Given the description of an element on the screen output the (x, y) to click on. 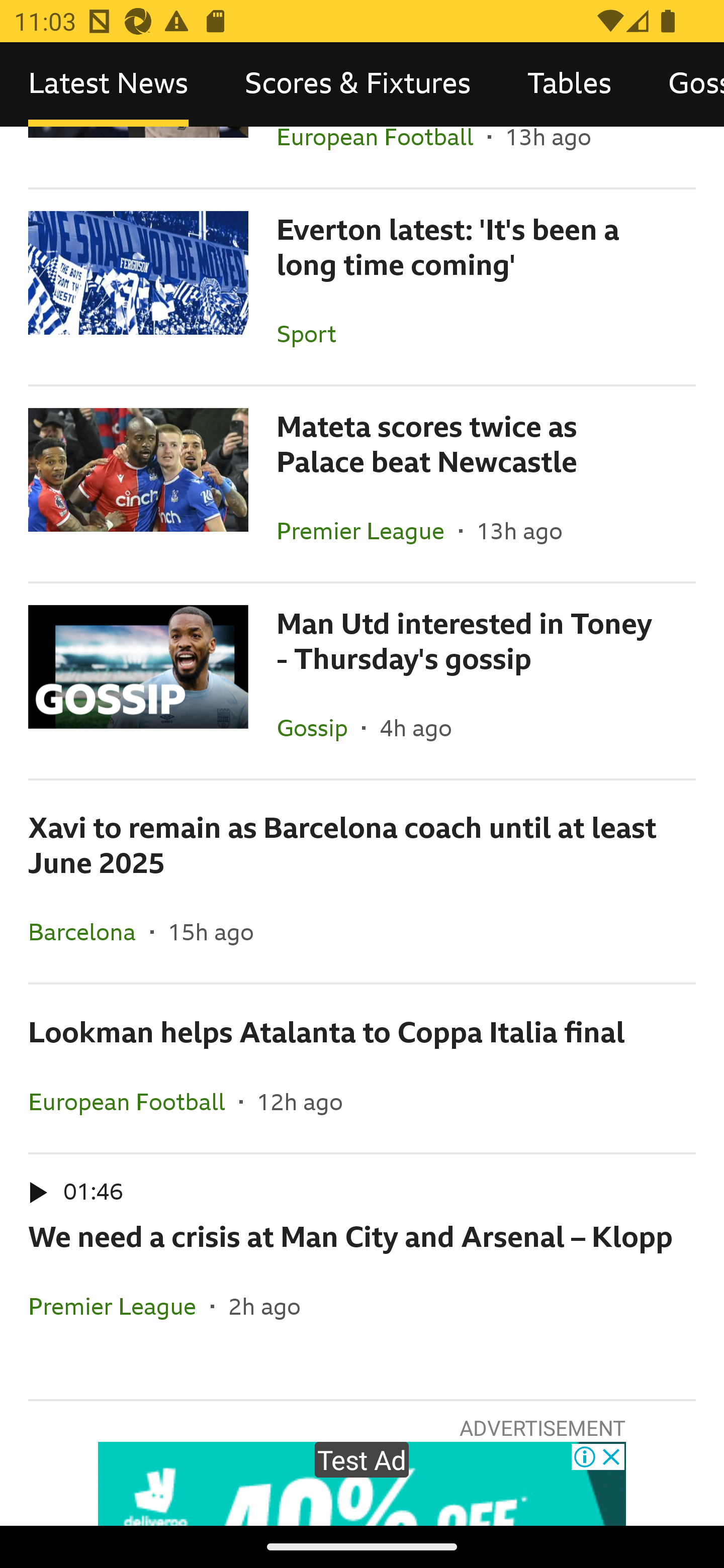
Latest News, selected Latest News (108, 84)
Scores & Fixtures (357, 84)
Tables (569, 84)
Sport In the section Sport (313, 333)
Premier League In the section Premier League (367, 530)
Barcelona In the section Barcelona (89, 932)
European Football In the section European Football (133, 1101)
Premier League In the section Premier League (119, 1305)
